Given the description of an element on the screen output the (x, y) to click on. 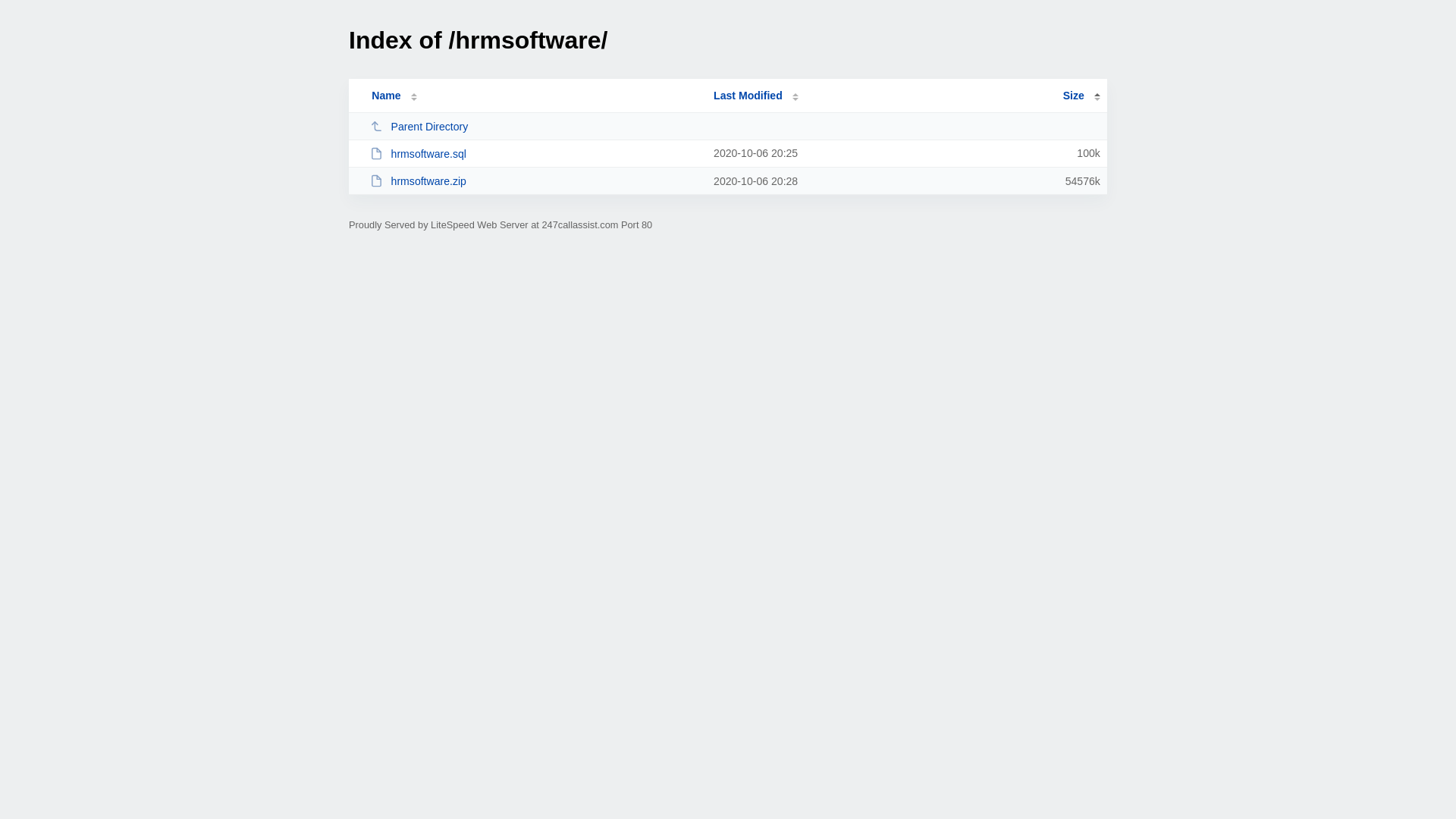
Name Element type: text (385, 95)
Size Element type: text (1081, 95)
hrmsoftware.sql Element type: text (534, 153)
Last Modified Element type: text (755, 95)
Parent Directory Element type: text (534, 125)
hrmsoftware.zip Element type: text (534, 180)
